Given the description of an element on the screen output the (x, y) to click on. 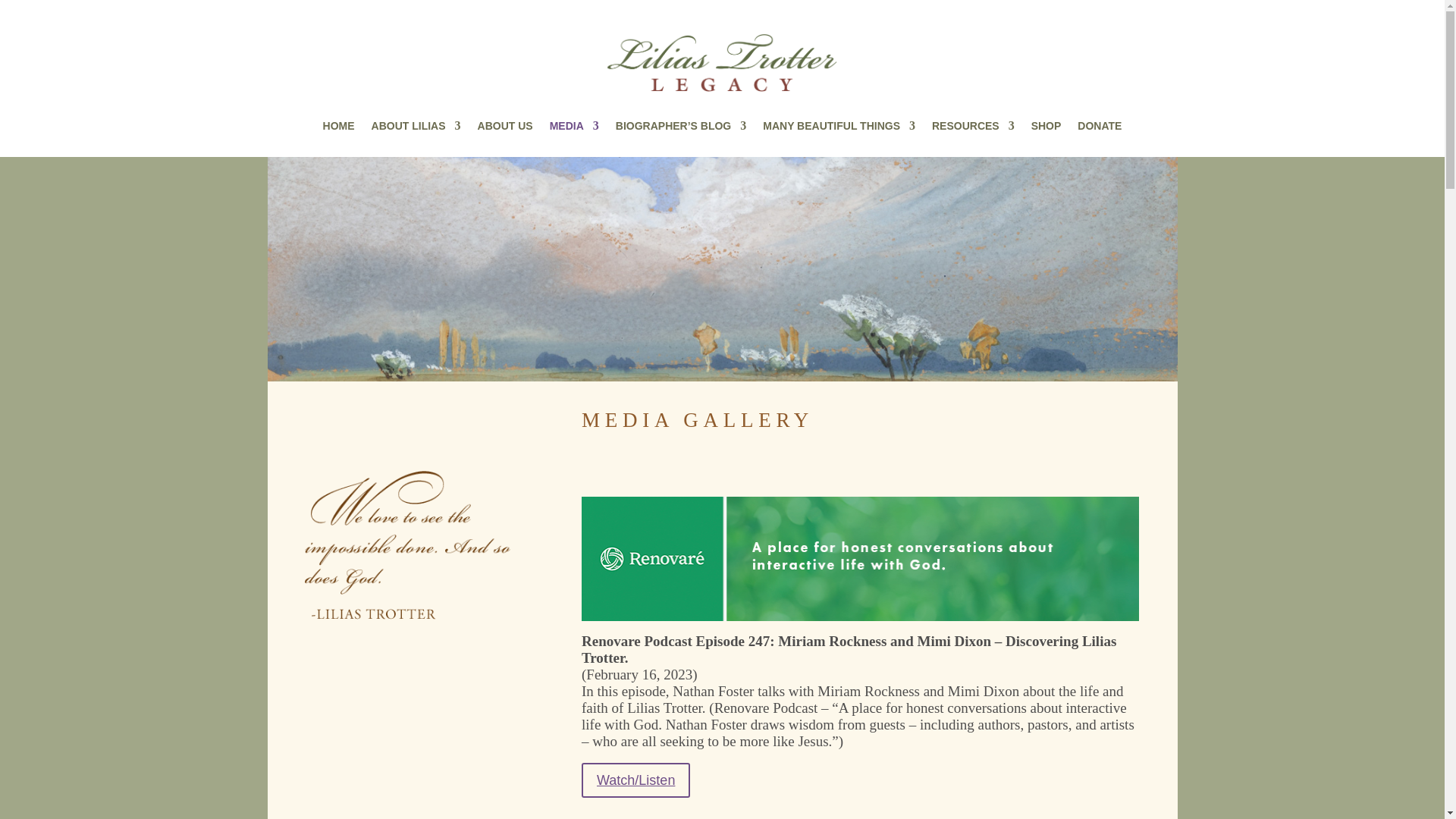
HOME (339, 128)
SHOP (1045, 128)
DONATE (1099, 128)
MEDIA (574, 128)
MANY BEAUTIFUL THINGS (838, 128)
ABOUT US (504, 128)
ABOUT LILIAS (416, 128)
RESOURCES (972, 128)
renovare-podcast (859, 557)
